Given the description of an element on the screen output the (x, y) to click on. 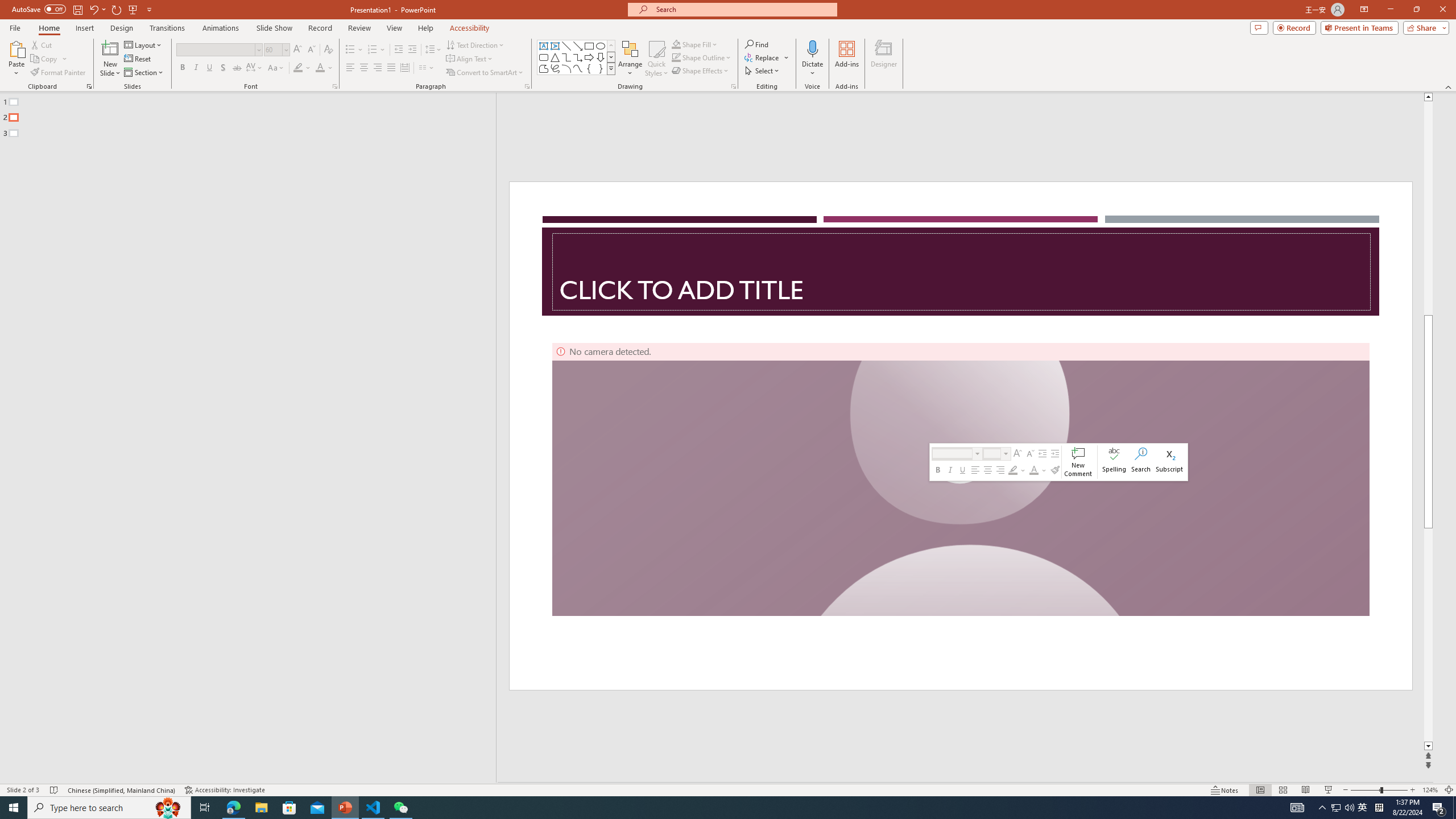
Shape Effects (700, 69)
Zoom 124% (1430, 790)
Class: NetUIComboboxAnchor (996, 453)
